Given the description of an element on the screen output the (x, y) to click on. 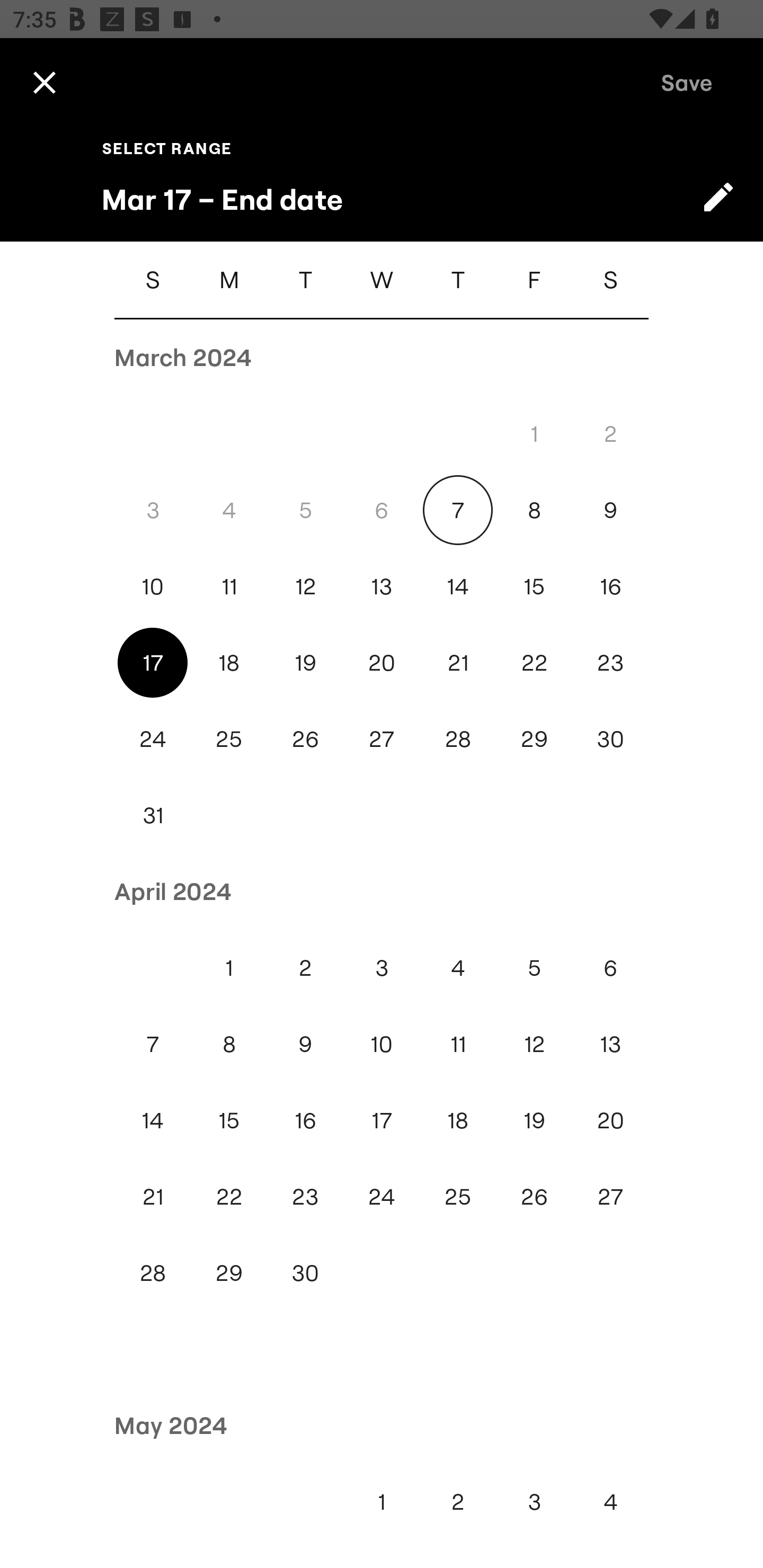
Cancel (44, 81)
Save (686, 81)
Switch to text input mode (718, 196)
1 Fri, Mar 1 (533, 433)
2 Sat, Mar 2 (610, 433)
3 Sun, Mar 3 (152, 509)
4 Mon, Mar 4 (228, 509)
5 Tue, Mar 5 (305, 509)
6 Wed, Mar 6 (381, 509)
7 Thu, Mar 7 (457, 509)
8 Fri, Mar 8 (533, 509)
9 Sat, Mar 9 (610, 509)
10 Sun, Mar 10 (152, 586)
11 Mon, Mar 11 (228, 586)
12 Tue, Mar 12 (305, 586)
13 Wed, Mar 13 (381, 586)
14 Thu, Mar 14 (457, 586)
15 Fri, Mar 15 (533, 586)
16 Sat, Mar 16 (610, 586)
17 Sun, Mar 17 (152, 662)
18 Mon, Mar 18 (228, 662)
19 Tue, Mar 19 (305, 662)
20 Wed, Mar 20 (381, 662)
21 Thu, Mar 21 (457, 662)
22 Fri, Mar 22 (533, 662)
23 Sat, Mar 23 (610, 662)
24 Sun, Mar 24 (152, 738)
25 Mon, Mar 25 (228, 738)
26 Tue, Mar 26 (305, 738)
27 Wed, Mar 27 (381, 738)
28 Thu, Mar 28 (457, 738)
29 Fri, Mar 29 (533, 738)
30 Sat, Mar 30 (610, 738)
31 Sun, Mar 31 (152, 814)
1 Mon, Apr 1 (228, 967)
2 Tue, Apr 2 (305, 967)
3 Wed, Apr 3 (381, 967)
4 Thu, Apr 4 (457, 967)
5 Fri, Apr 5 (533, 967)
6 Sat, Apr 6 (610, 967)
7 Sun, Apr 7 (152, 1043)
8 Mon, Apr 8 (228, 1043)
9 Tue, Apr 9 (305, 1043)
10 Wed, Apr 10 (381, 1043)
11 Thu, Apr 11 (457, 1043)
12 Fri, Apr 12 (533, 1043)
13 Sat, Apr 13 (610, 1043)
14 Sun, Apr 14 (152, 1119)
15 Mon, Apr 15 (228, 1119)
16 Tue, Apr 16 (305, 1119)
17 Wed, Apr 17 (381, 1119)
18 Thu, Apr 18 (457, 1119)
19 Fri, Apr 19 (533, 1119)
20 Sat, Apr 20 (610, 1119)
21 Sun, Apr 21 (152, 1196)
22 Mon, Apr 22 (228, 1196)
23 Tue, Apr 23 (305, 1196)
24 Wed, Apr 24 (381, 1196)
25 Thu, Apr 25 (457, 1196)
26 Fri, Apr 26 (533, 1196)
27 Sat, Apr 27 (610, 1196)
28 Sun, Apr 28 (152, 1272)
29 Mon, Apr 29 (228, 1272)
30 Tue, Apr 30 (305, 1272)
1 Wed, May 1 (381, 1500)
2 Thu, May 2 (457, 1500)
3 Fri, May 3 (533, 1500)
4 Sat, May 4 (610, 1500)
